Given the description of an element on the screen output the (x, y) to click on. 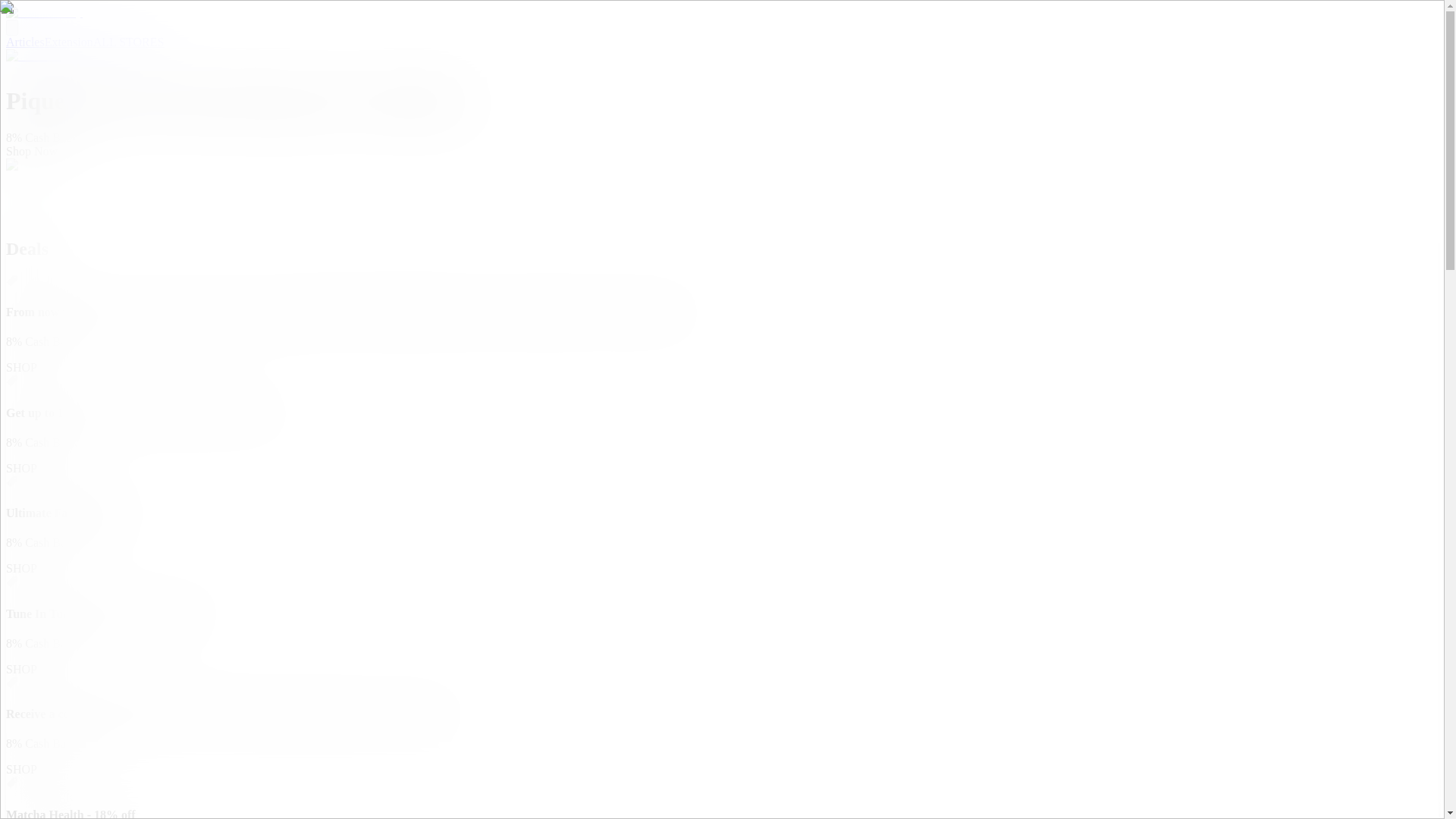
ALL STORES (128, 42)
Extension (69, 42)
Articles (25, 42)
